Given the description of an element on the screen output the (x, y) to click on. 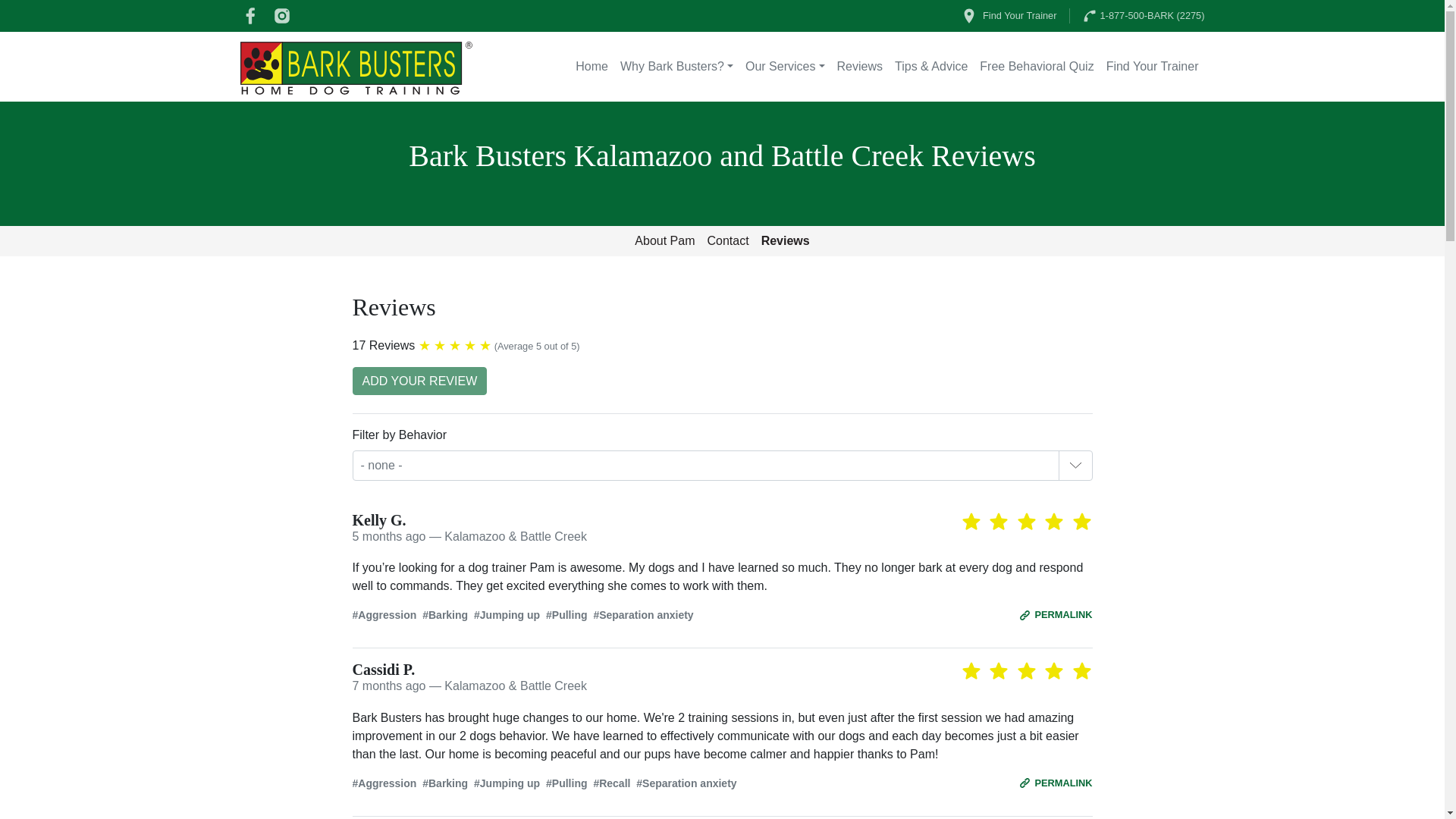
Free Behavioral Quiz (1036, 66)
Find Your Trainer (1152, 66)
Behaviors (722, 615)
Facebook (249, 15)
Behaviors (722, 783)
Contact (727, 241)
Find Your Trainer (1008, 16)
Why Bark Busters? (676, 66)
Reviews (859, 66)
Link to review from Cassidi P. (1056, 782)
Link to review from Kelly G. (1056, 614)
About Pam (664, 241)
ADD YOUR REVIEW (419, 380)
PERMALINK (1056, 782)
Instagram (280, 15)
